Given the description of an element on the screen output the (x, y) to click on. 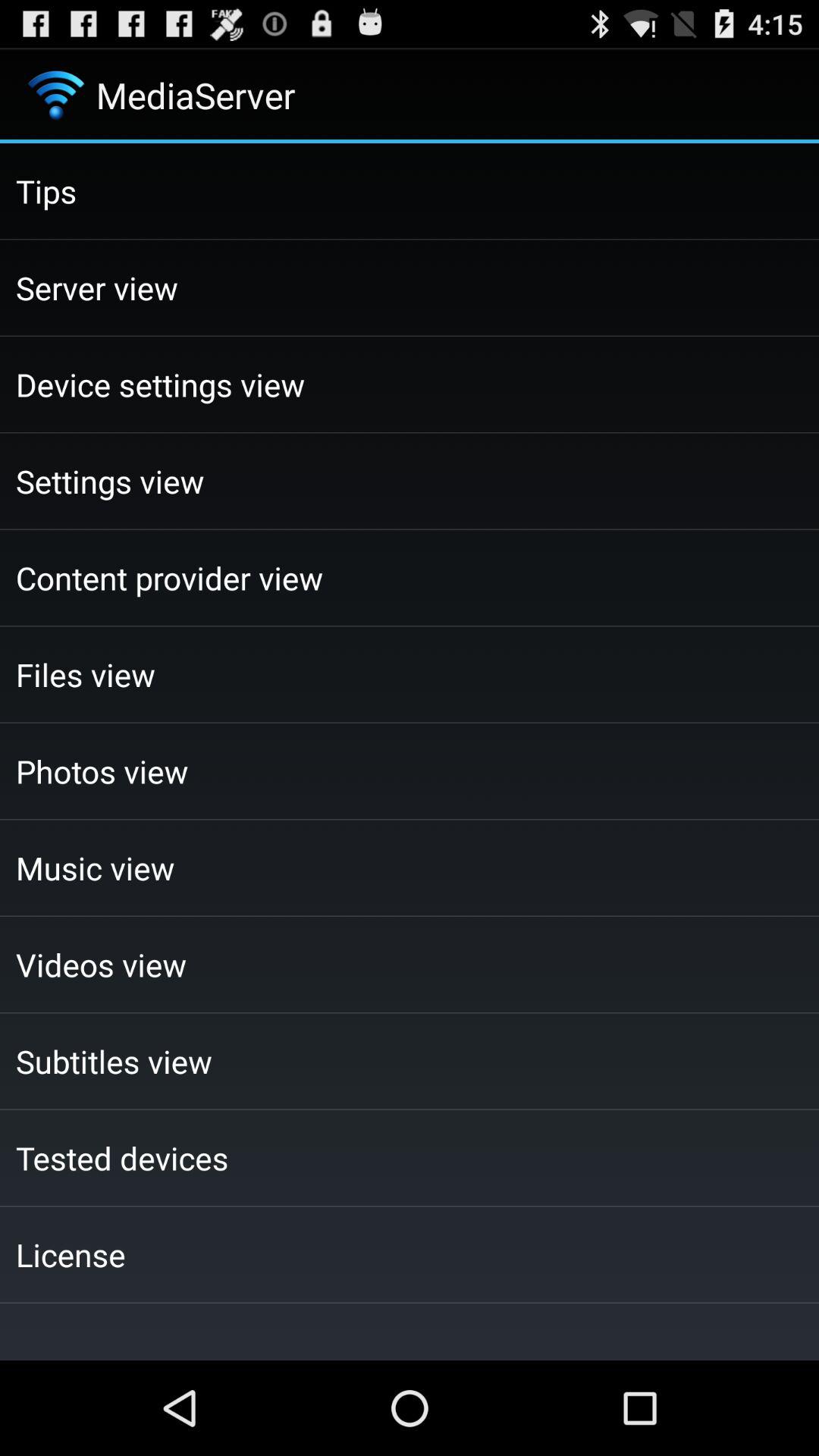
turn on the item below files view item (409, 771)
